Given the description of an element on the screen output the (x, y) to click on. 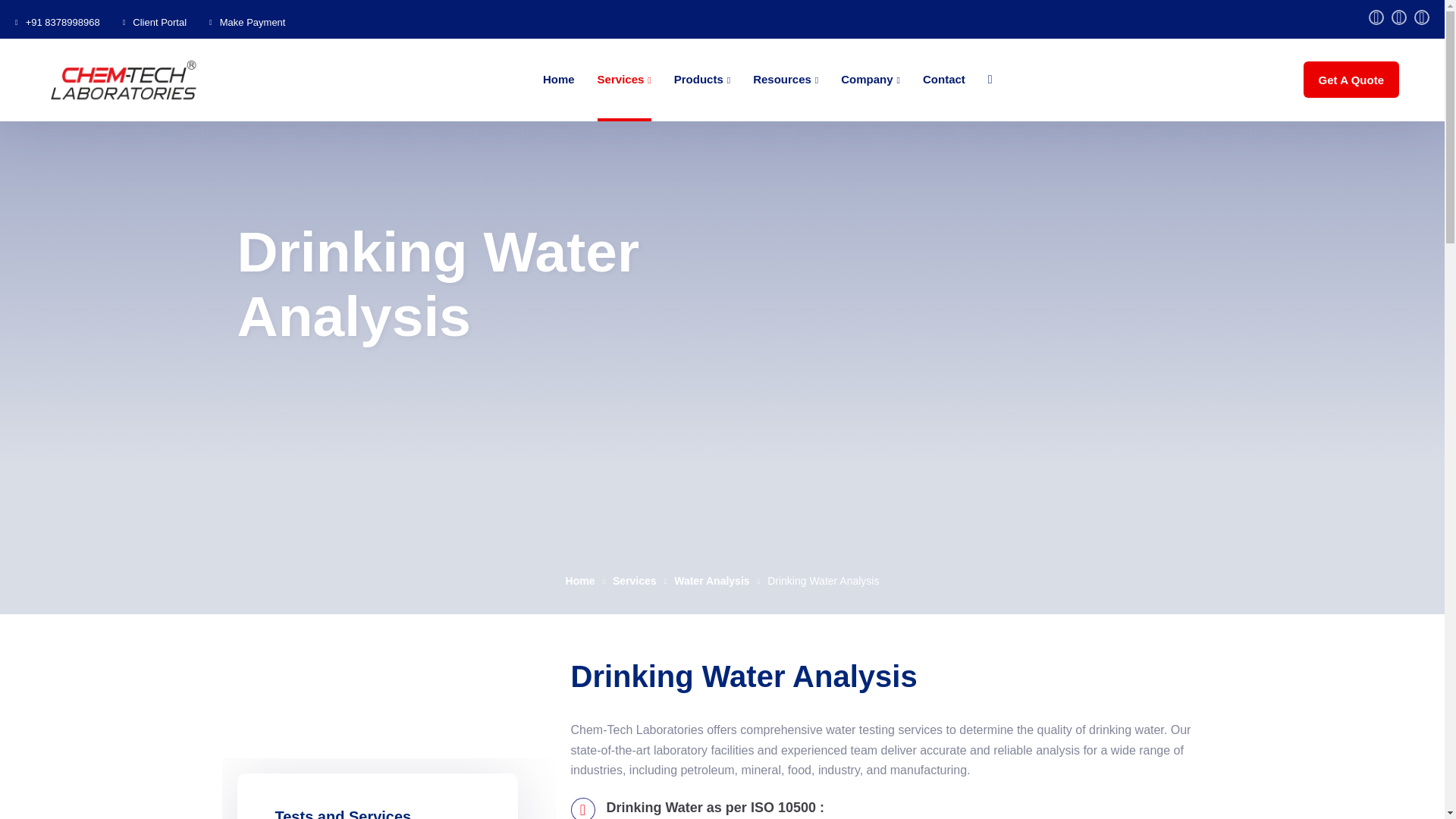
Home (559, 78)
Chemtechlab (123, 79)
Client Portal (159, 21)
Services (623, 79)
Make Payment (252, 21)
